Given the description of an element on the screen output the (x, y) to click on. 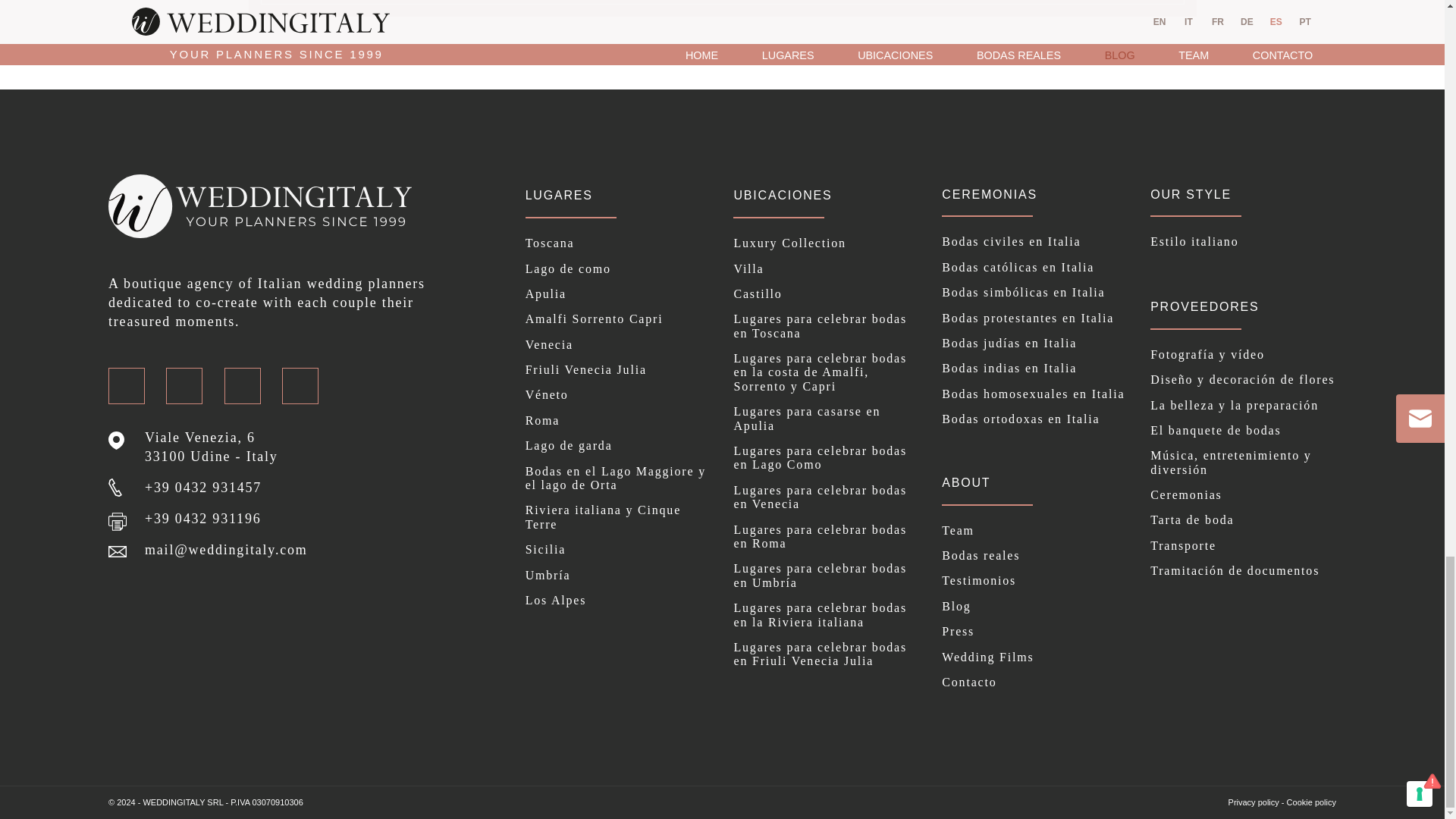
Lago de garda (618, 445)
LUGARES (558, 195)
Lago de como (618, 269)
Apulia (618, 294)
Venecia (618, 345)
Sicilia (618, 549)
Riviera italiana y Cinque Terre (618, 517)
Roma (618, 420)
Toscana (618, 243)
Friuli Venecia Julia (618, 369)
Bodas en el Lago Maggiore y el lago de Orta (618, 479)
Amalfi Sorrento Capri (618, 318)
